Given the description of an element on the screen output the (x, y) to click on. 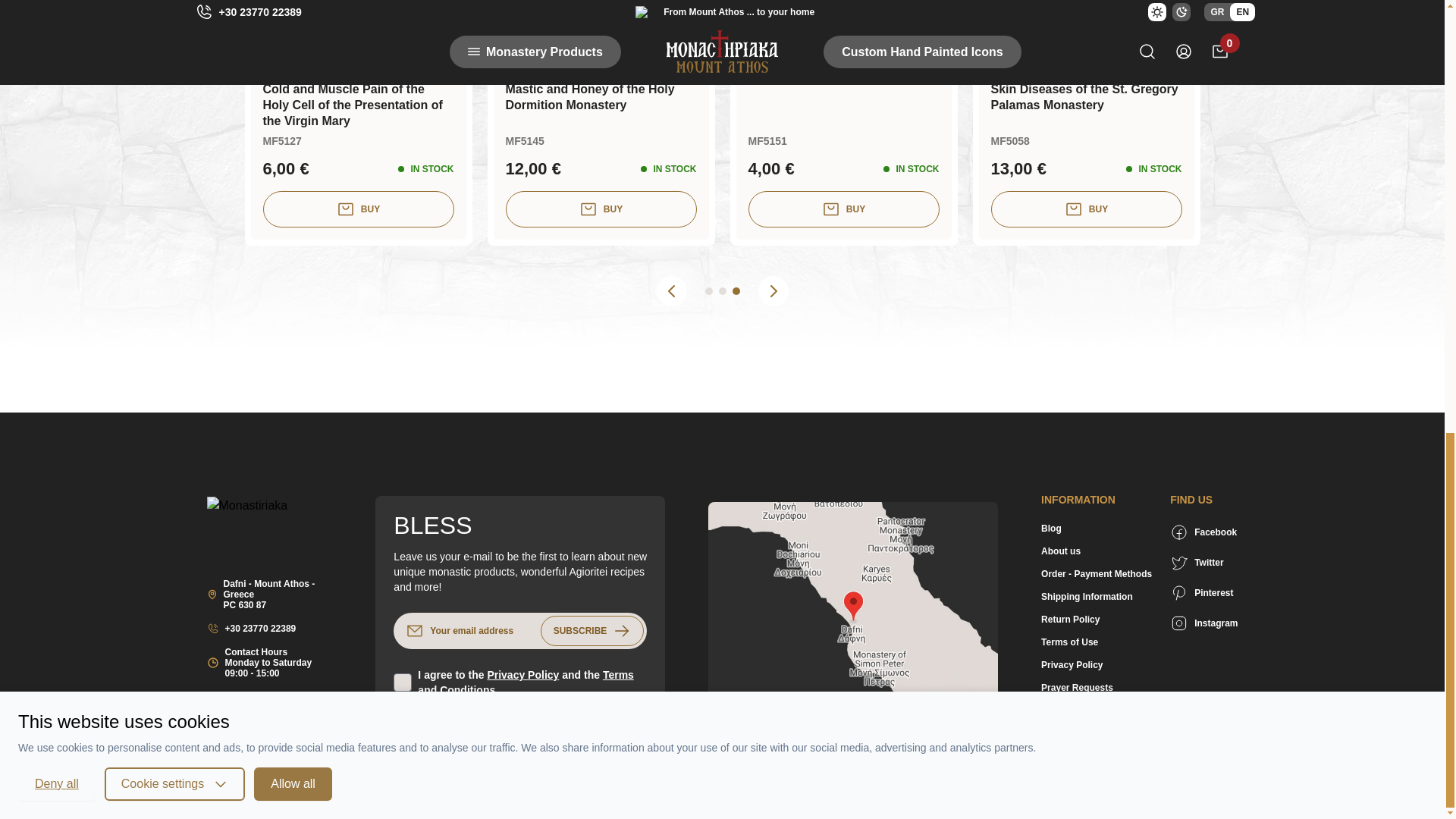
on (402, 682)
